Given the description of an element on the screen output the (x, y) to click on. 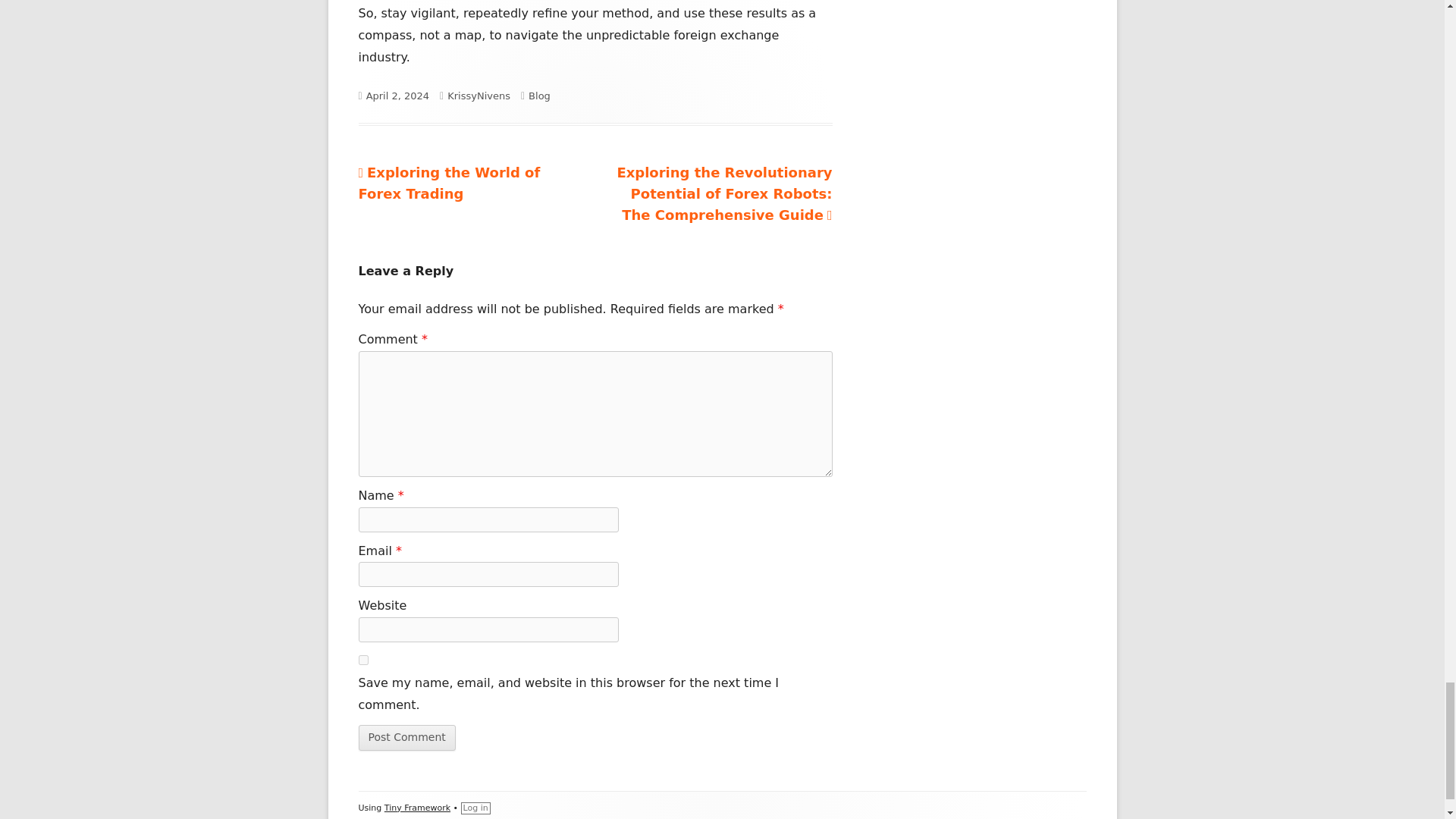
Blog (539, 95)
April 2, 2024 (397, 95)
Post Comment (449, 182)
KrissyNivens (406, 737)
Post Comment (478, 95)
yes (406, 737)
